Given the description of an element on the screen output the (x, y) to click on. 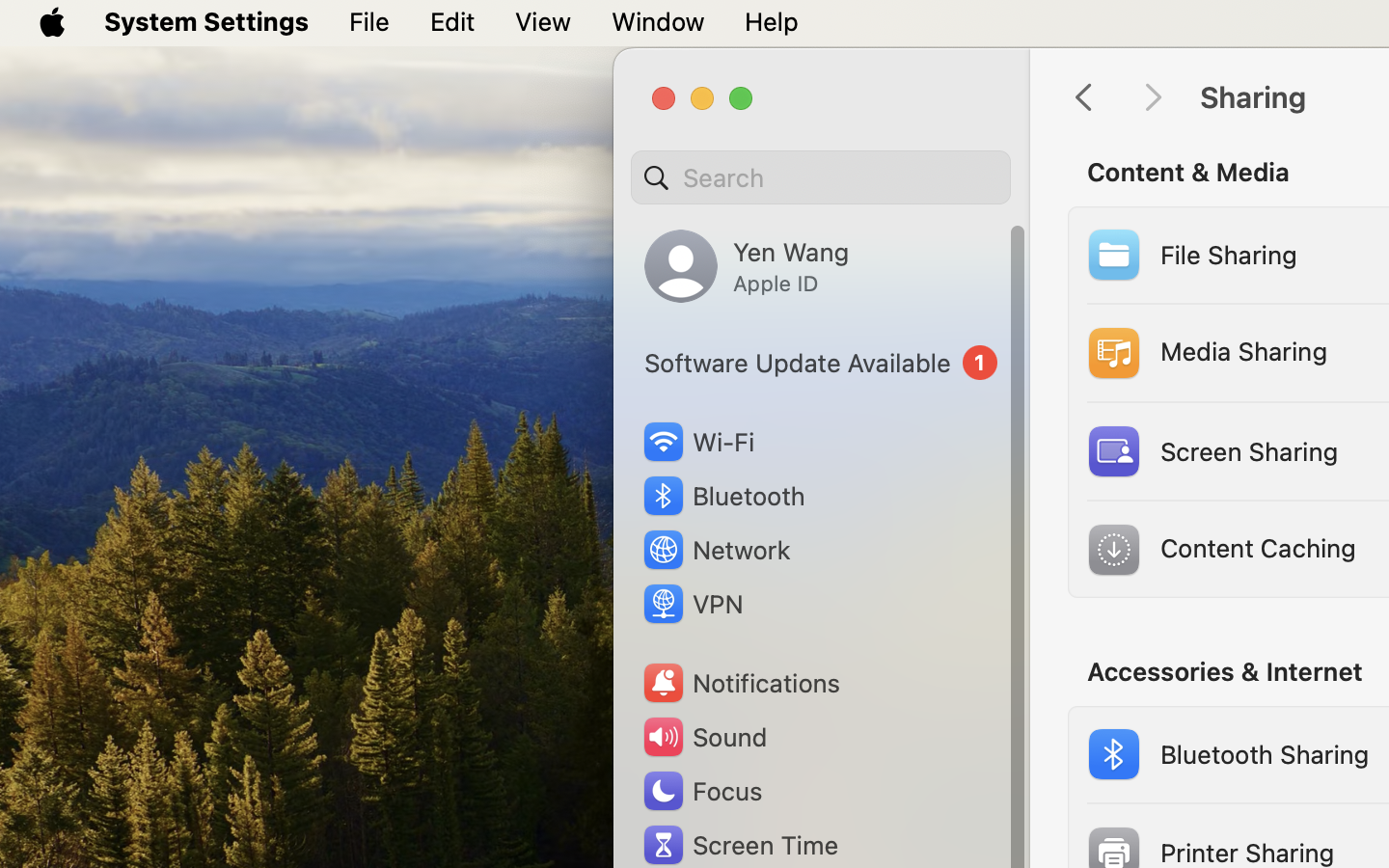
Screen Time Element type: AXStaticText (739, 844)
Notifications Element type: AXStaticText (740, 682)
File Sharing Element type: AXStaticText (1189, 254)
Network Element type: AXStaticText (715, 549)
VPN Element type: AXStaticText (691, 603)
